Given the description of an element on the screen output the (x, y) to click on. 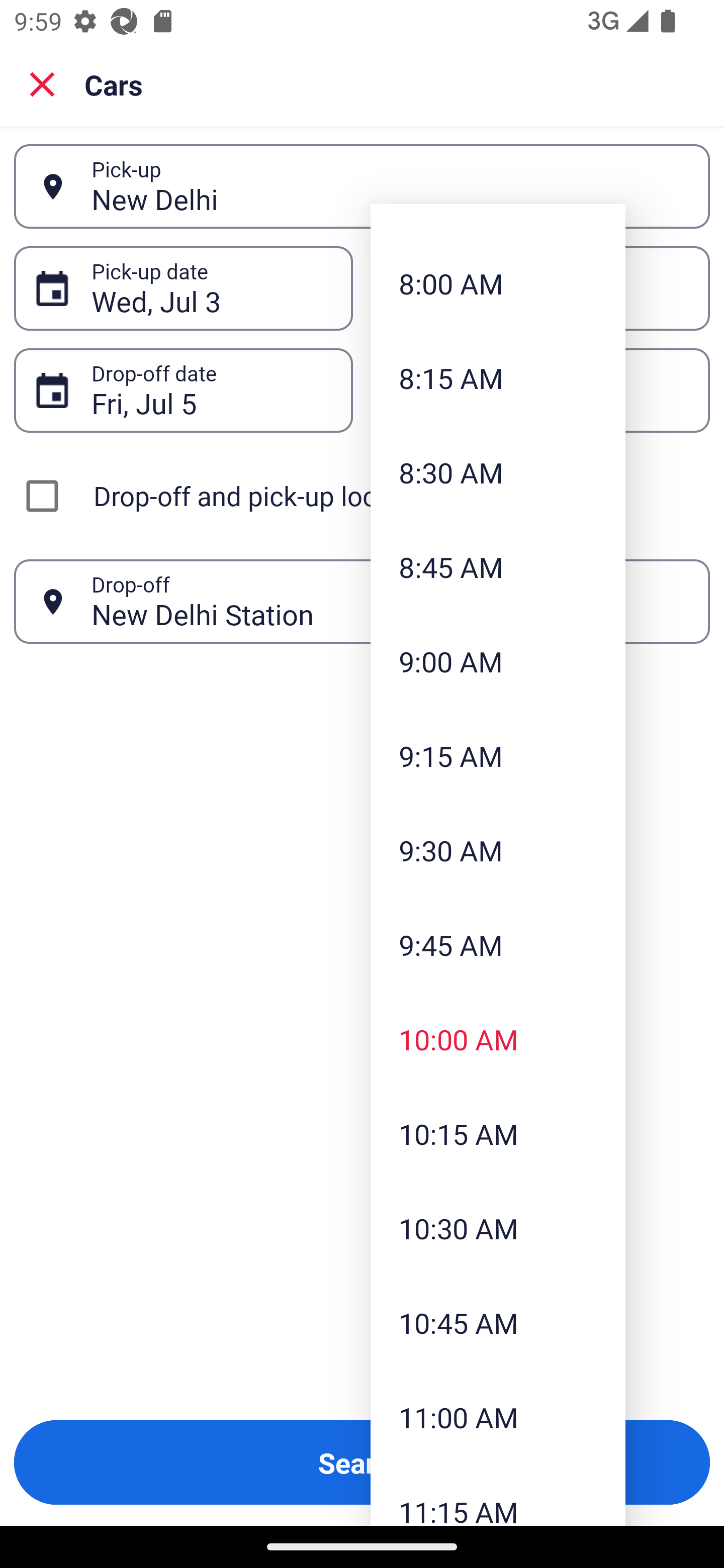
8:00 AM (497, 283)
8:15 AM (497, 377)
8:30 AM (497, 471)
8:45 AM (497, 566)
9:00 AM (497, 661)
9:15 AM (497, 755)
9:30 AM (497, 849)
9:45 AM (497, 944)
10:00 AM (497, 1039)
10:15 AM (497, 1133)
10:30 AM (497, 1227)
10:45 AM (497, 1322)
11:00 AM (497, 1417)
11:15 AM (497, 1494)
